Given the description of an element on the screen output the (x, y) to click on. 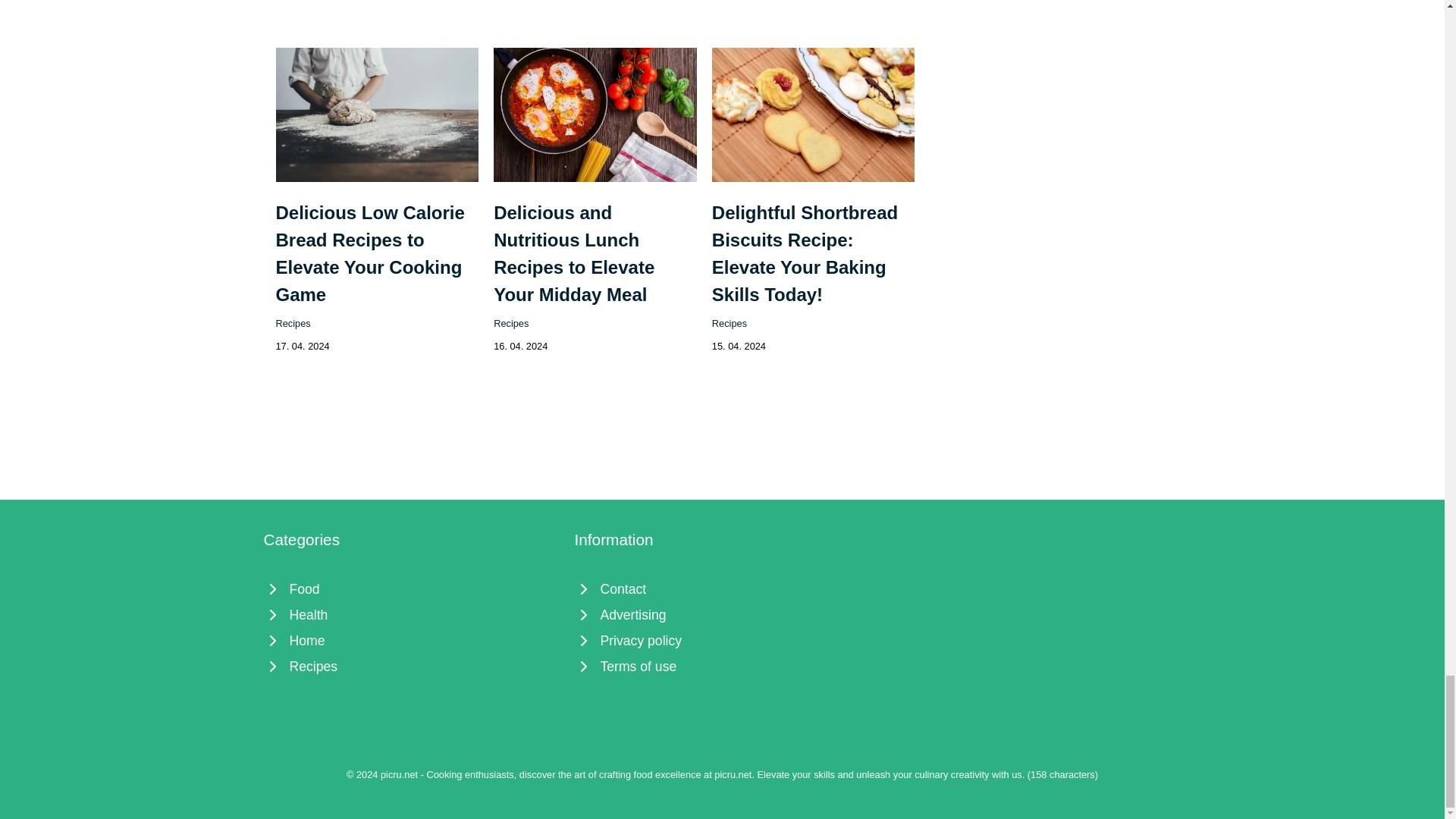
Recipes (293, 322)
Privacy policy (722, 640)
Recipes (411, 666)
Contact (722, 588)
Health (411, 614)
Food (411, 588)
Home (411, 640)
Terms of use (722, 666)
